Given the description of an element on the screen output the (x, y) to click on. 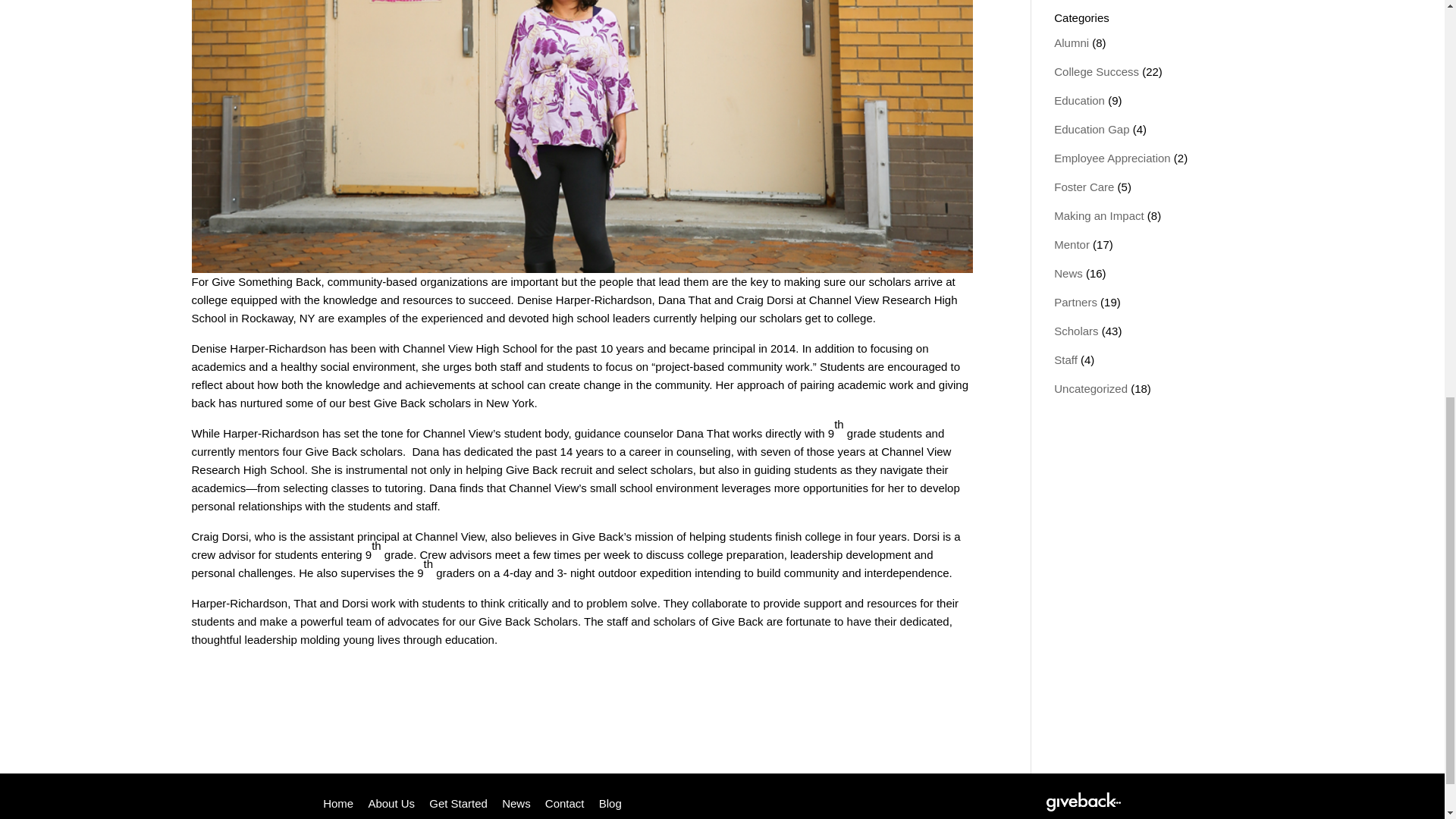
Education Gap (1091, 128)
Making an Impact (1098, 215)
Alumni (1071, 42)
College Success (1096, 71)
Employee Appreciation (1112, 157)
Foster Care (1083, 186)
Education (1079, 100)
